Given the description of an element on the screen output the (x, y) to click on. 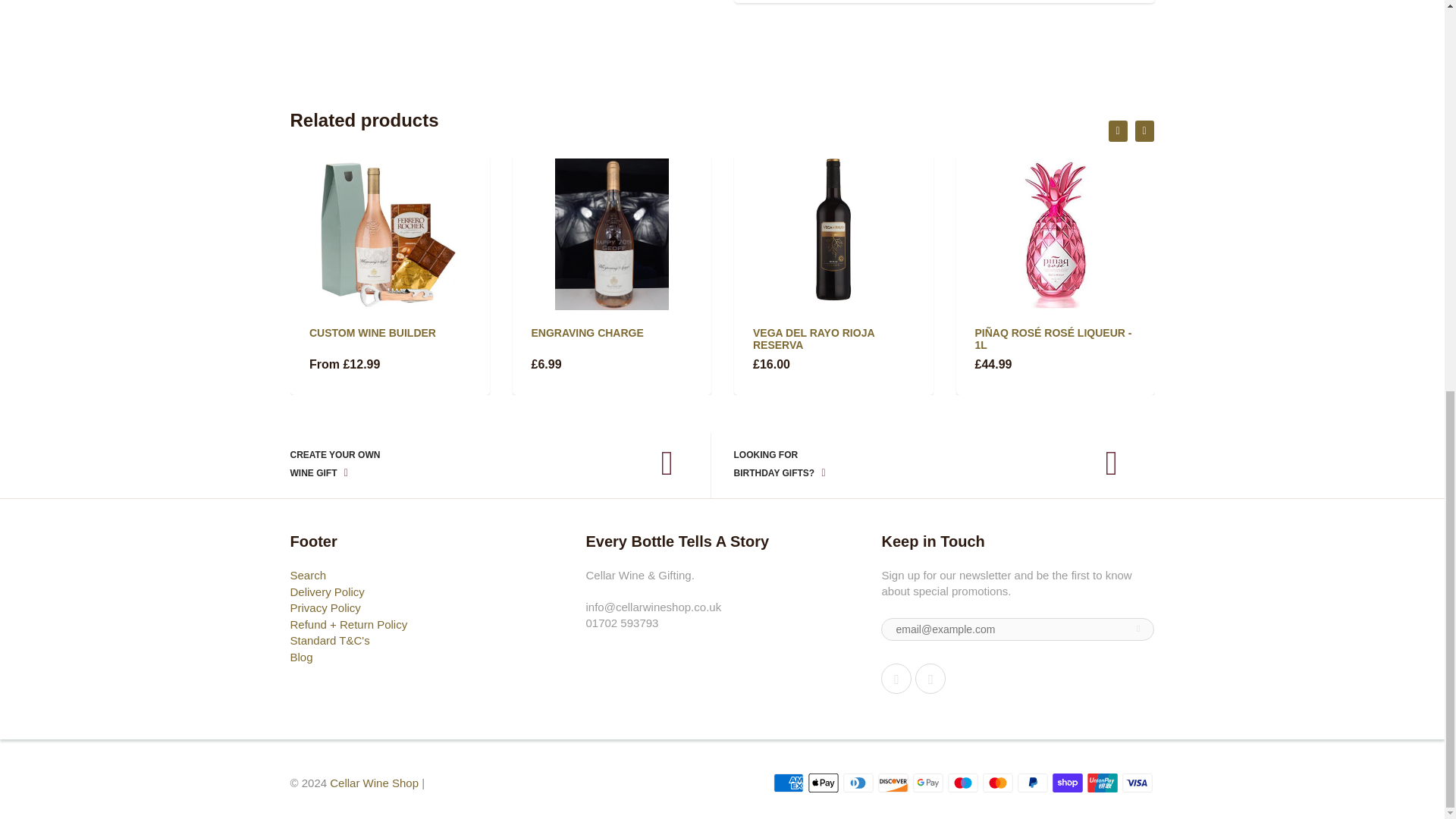
Mastercard (997, 782)
Visa (1137, 782)
Apple Pay (823, 782)
Instagram (929, 678)
Diners Club (858, 782)
American Express (788, 782)
PayPal (1032, 782)
Shop Pay (1067, 782)
Maestro (962, 782)
Google Pay (927, 782)
Union Pay (1102, 782)
Facebook (895, 678)
Discover (892, 782)
